Given the description of an element on the screen output the (x, y) to click on. 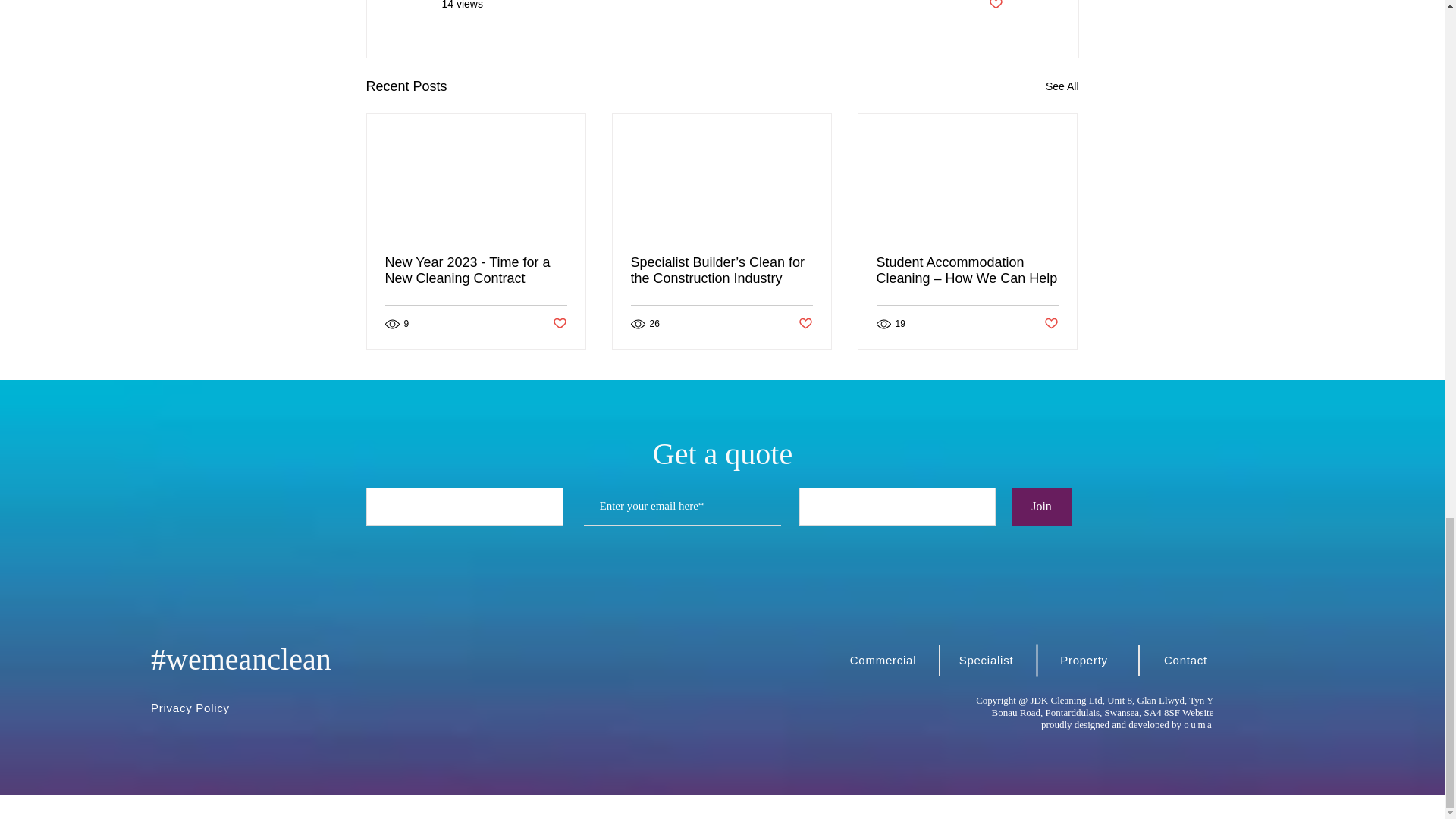
See All (1061, 86)
Privacy Policy (196, 707)
Post not marked as liked (804, 324)
ouma (1197, 724)
Commercial (884, 659)
Post not marked as liked (558, 324)
Contact (1187, 659)
Property (1085, 659)
New Year 2023 - Time for a New Cleaning Contract (476, 270)
Specialist (986, 659)
Join (1041, 506)
Post not marked as liked (1050, 324)
Post not marked as liked (995, 6)
